Given the description of an element on the screen output the (x, y) to click on. 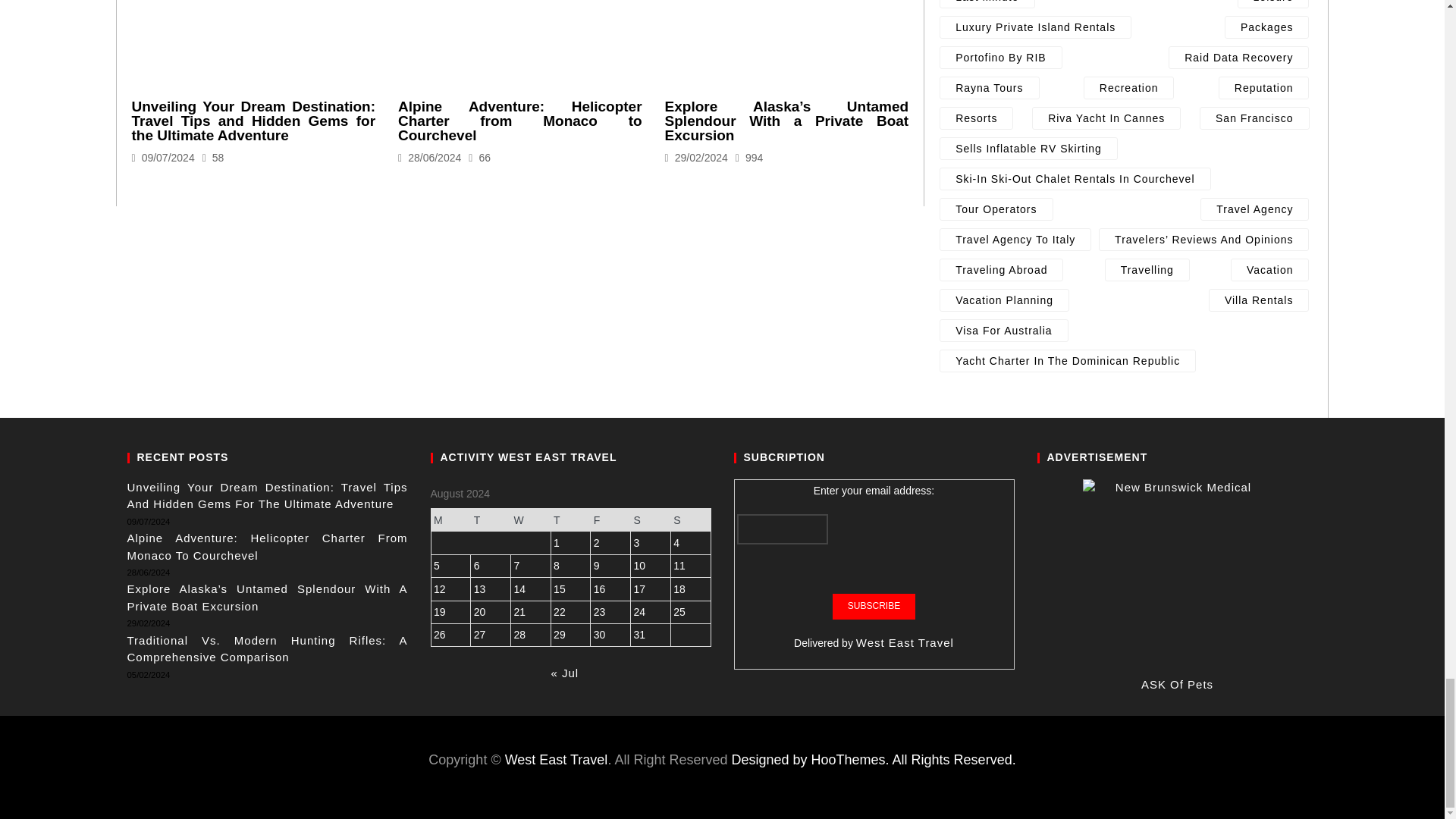
Subscribe (873, 606)
Visits (213, 157)
Visits (479, 157)
